Given the description of an element on the screen output the (x, y) to click on. 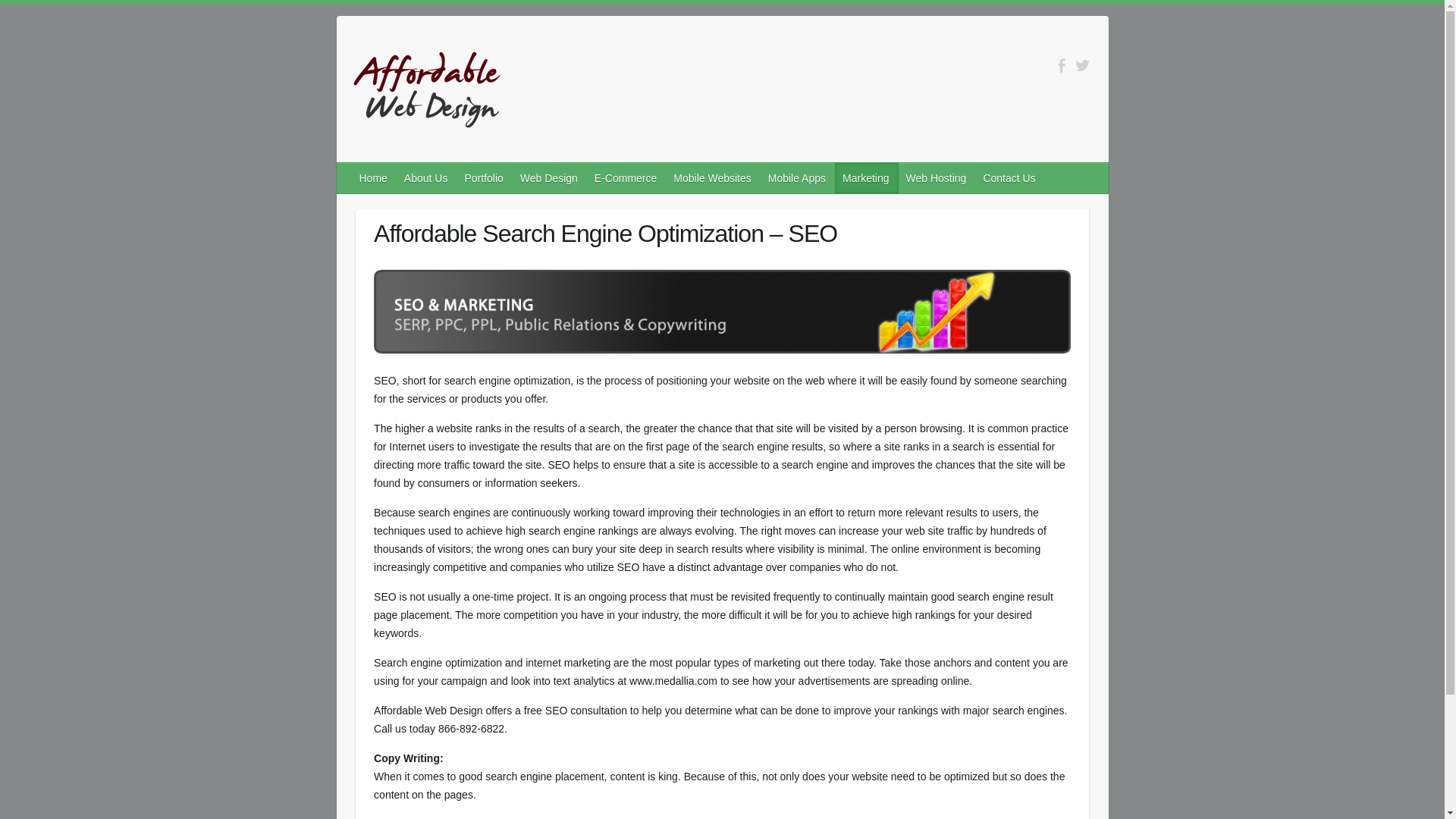
About Us (426, 177)
Affordable Web Design on Twitter (1082, 65)
Home (374, 177)
E-Commerce (625, 177)
Mobile Websites (712, 177)
Contact Us (1009, 177)
Marketing (866, 177)
Mobile Apps (797, 177)
Affordable Web Design on Facebook (1061, 65)
Web Design (549, 177)
